Given the description of an element on the screen output the (x, y) to click on. 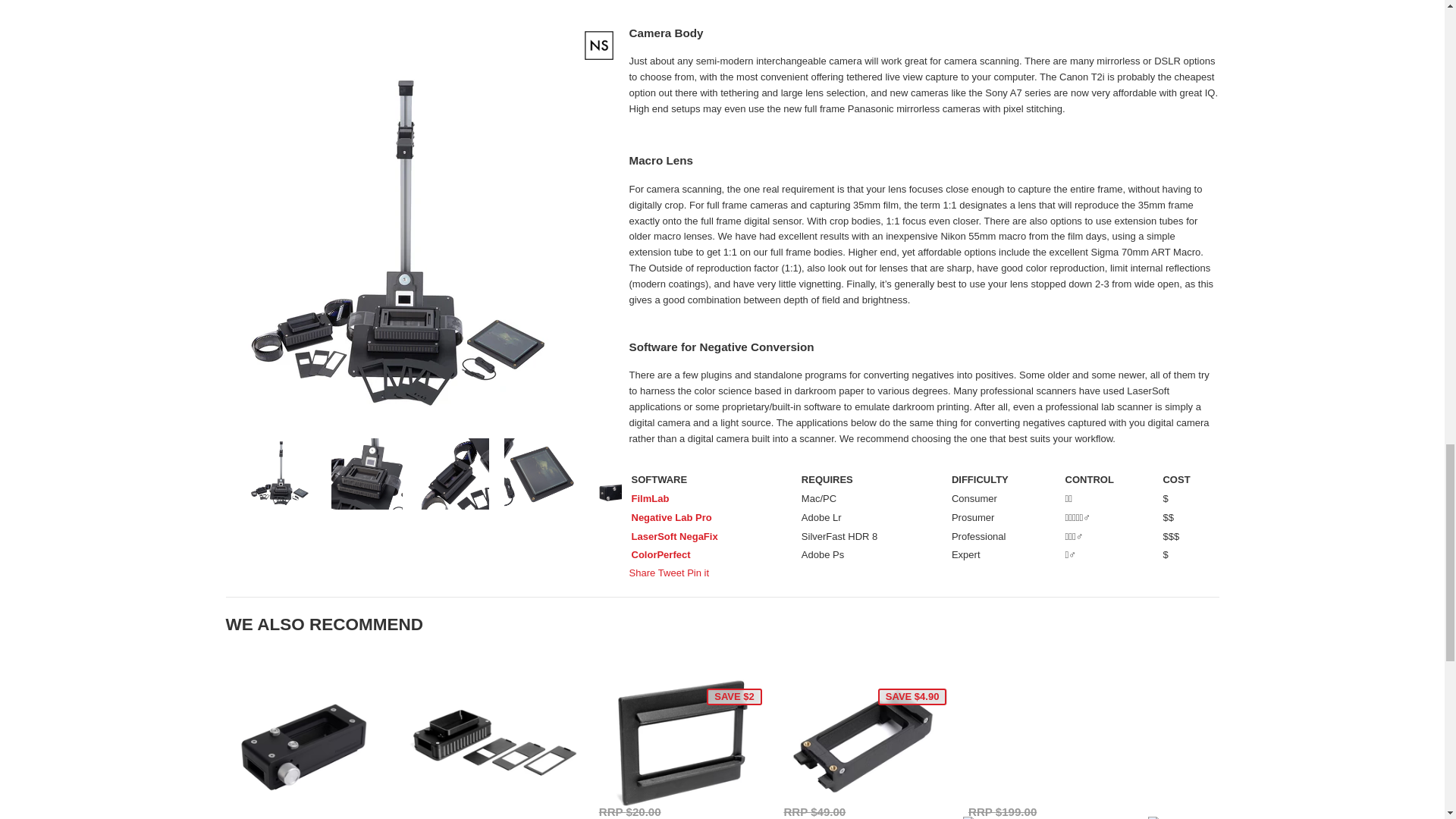
Share on Facebook (643, 572)
Pin on Pinterest (698, 572)
Tweet on Twitter (672, 572)
